Given the description of an element on the screen output the (x, y) to click on. 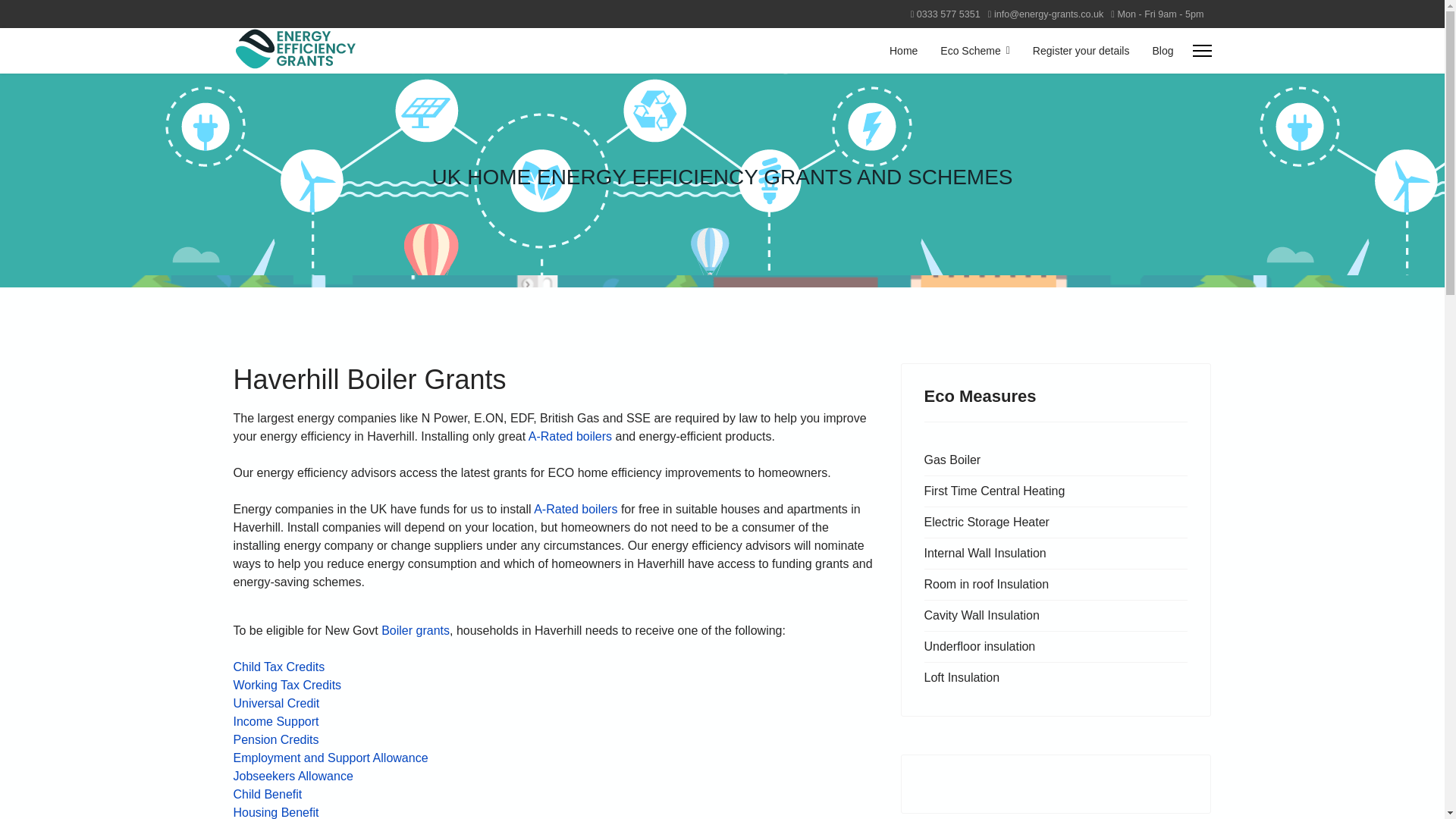
First Time Central Heating (1055, 490)
Register your details (1081, 50)
Employment and Support Allowance (330, 757)
Income Support (275, 721)
Electric Storage Heater (1055, 521)
Gas Boiler (1055, 460)
Jobseekers Allowance (292, 775)
Child Tax Credits (278, 666)
Boiler grants (415, 630)
Working Tax Credits (287, 684)
Child Benefit (267, 793)
Menu (1201, 50)
Home (902, 50)
Pension Credits (275, 739)
Universal Credit (276, 703)
